Given the description of an element on the screen output the (x, y) to click on. 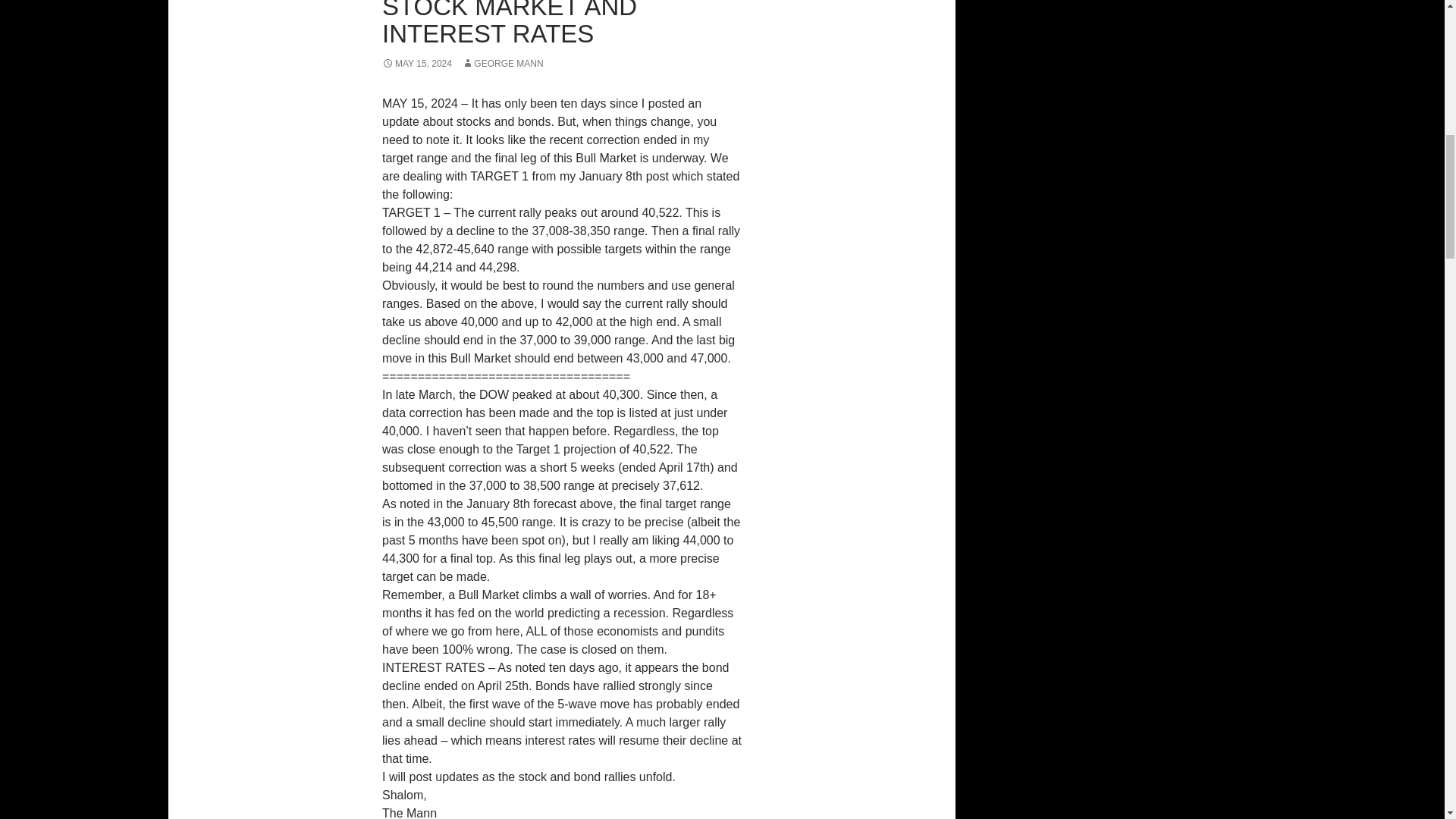
MAY 15, 2024 (416, 63)
STOCK MARKET AND INTEREST RATES (509, 23)
GEORGE MANN (502, 63)
